Given the description of an element on the screen output the (x, y) to click on. 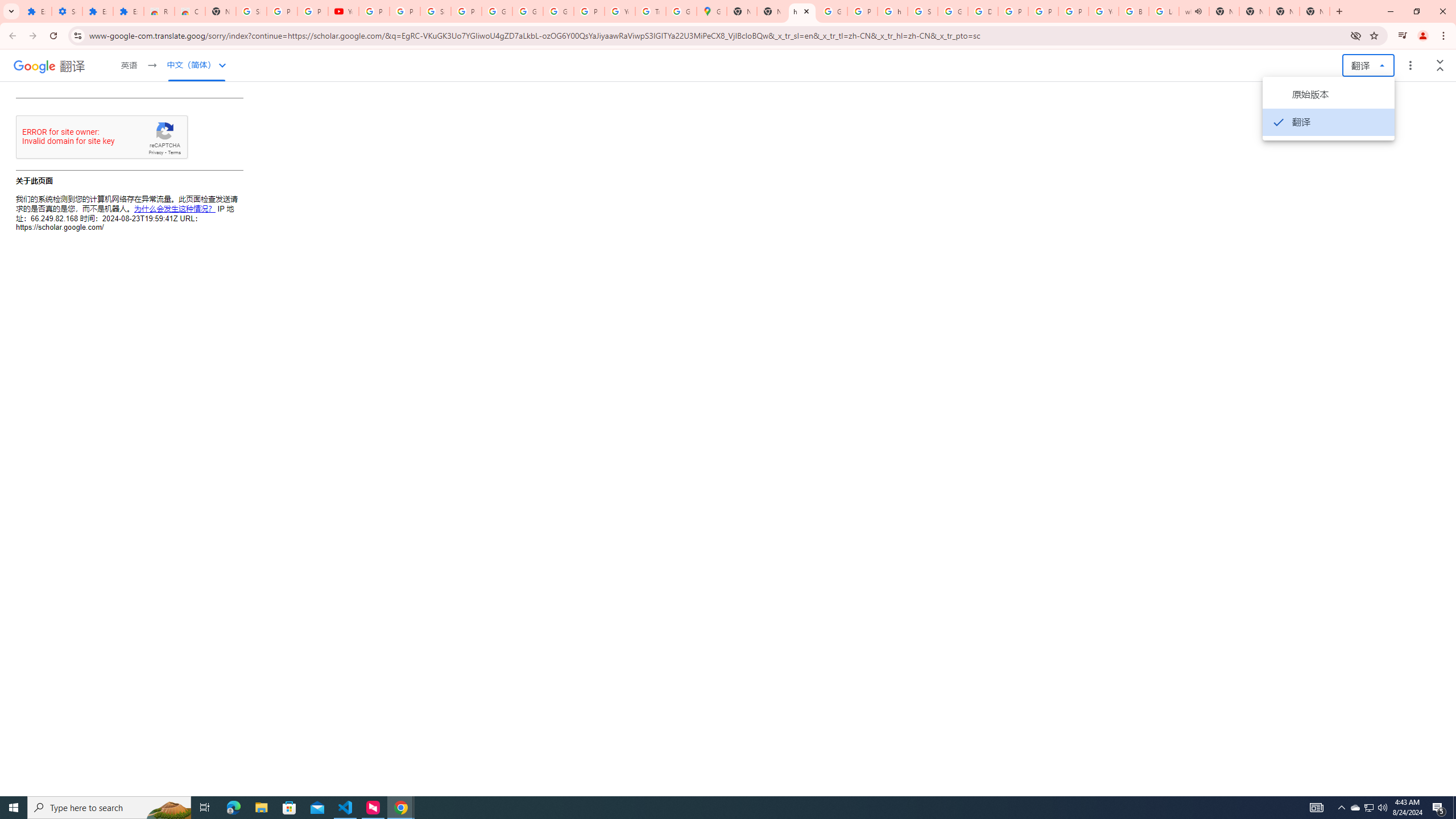
Chrome Web Store - Themes (189, 11)
Privacy Help Center - Policies Help (1012, 11)
Sign in - Google Accounts (434, 11)
New Tab (1283, 11)
